Given the description of an element on the screen output the (x, y) to click on. 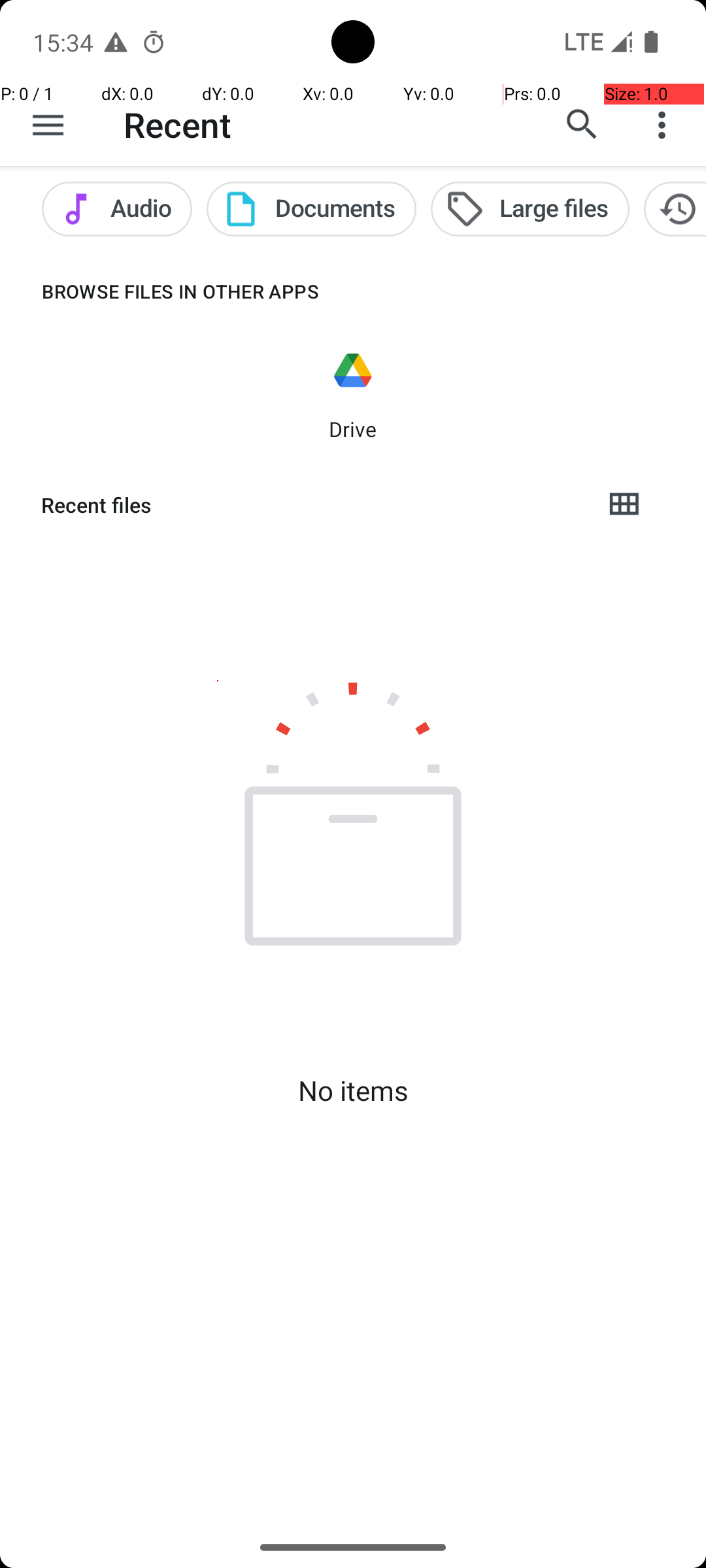
BROWSE FILES IN OTHER APPS Element type: android.widget.TextView (159, 291)
Recent files Element type: android.widget.TextView (311, 504)
Drive Element type: android.widget.TextView (352, 428)
